Given the description of an element on the screen output the (x, y) to click on. 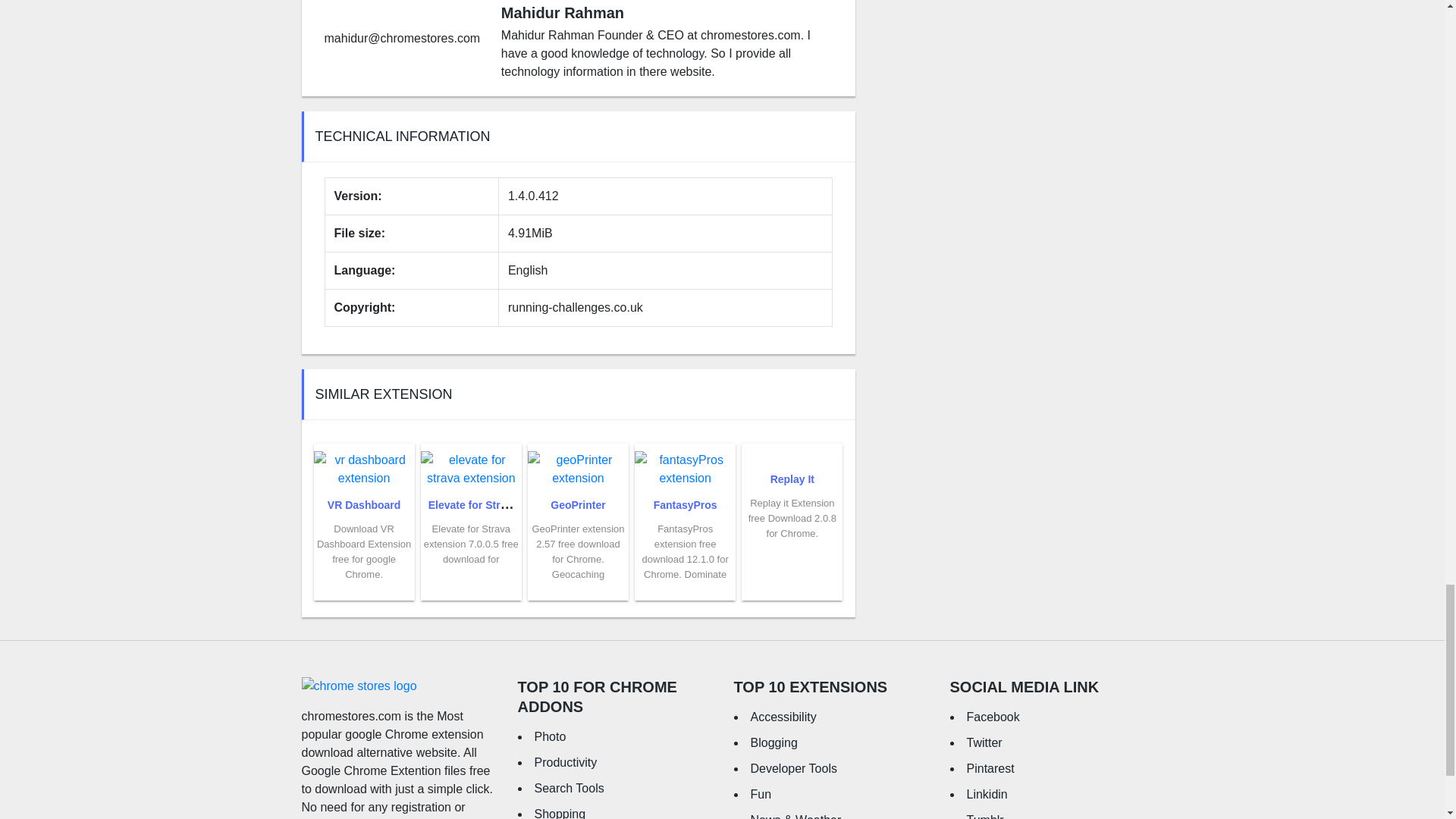
Elevate for Strava (470, 463)
Elevate for Strava extension 7.0.0.5 free download for (470, 544)
Elevate for Strava - Download (470, 544)
Elevate for Strava (473, 503)
VR Dashboard (364, 463)
FantasyPros (685, 504)
GeoPrinter (577, 504)
VR Dashboard - Download (363, 551)
Download VR Dashboard Extension free for google Chrome. (363, 551)
VR Dashboard (363, 504)
VR Dashboard (363, 504)
Elevate for Strava (473, 503)
